Given the description of an element on the screen output the (x, y) to click on. 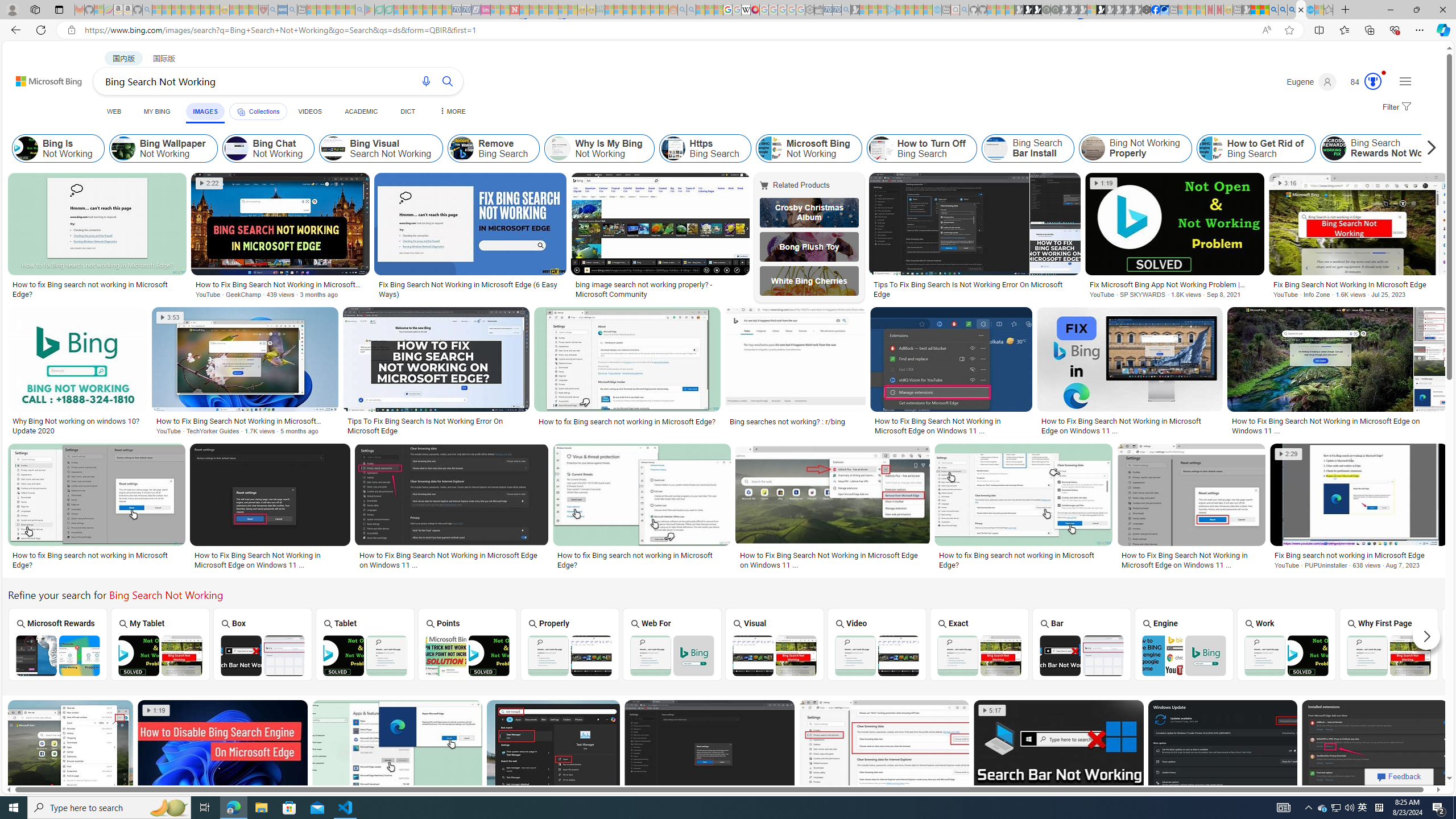
Fix Bing search not working in Microsoft Edge (1358, 555)
Why Bing Not working on windows 10? Update 2020 (77, 425)
Target page - Wikipedia (745, 9)
MediaWiki (754, 9)
Fix Bing Search Not Working in Microsoft Edge (6 Easy Ways) (470, 289)
Image result for Bing Search Not Working (1374, 750)
Bong Plush Toy (809, 246)
5:17 (991, 710)
